Given the description of an element on the screen output the (x, y) to click on. 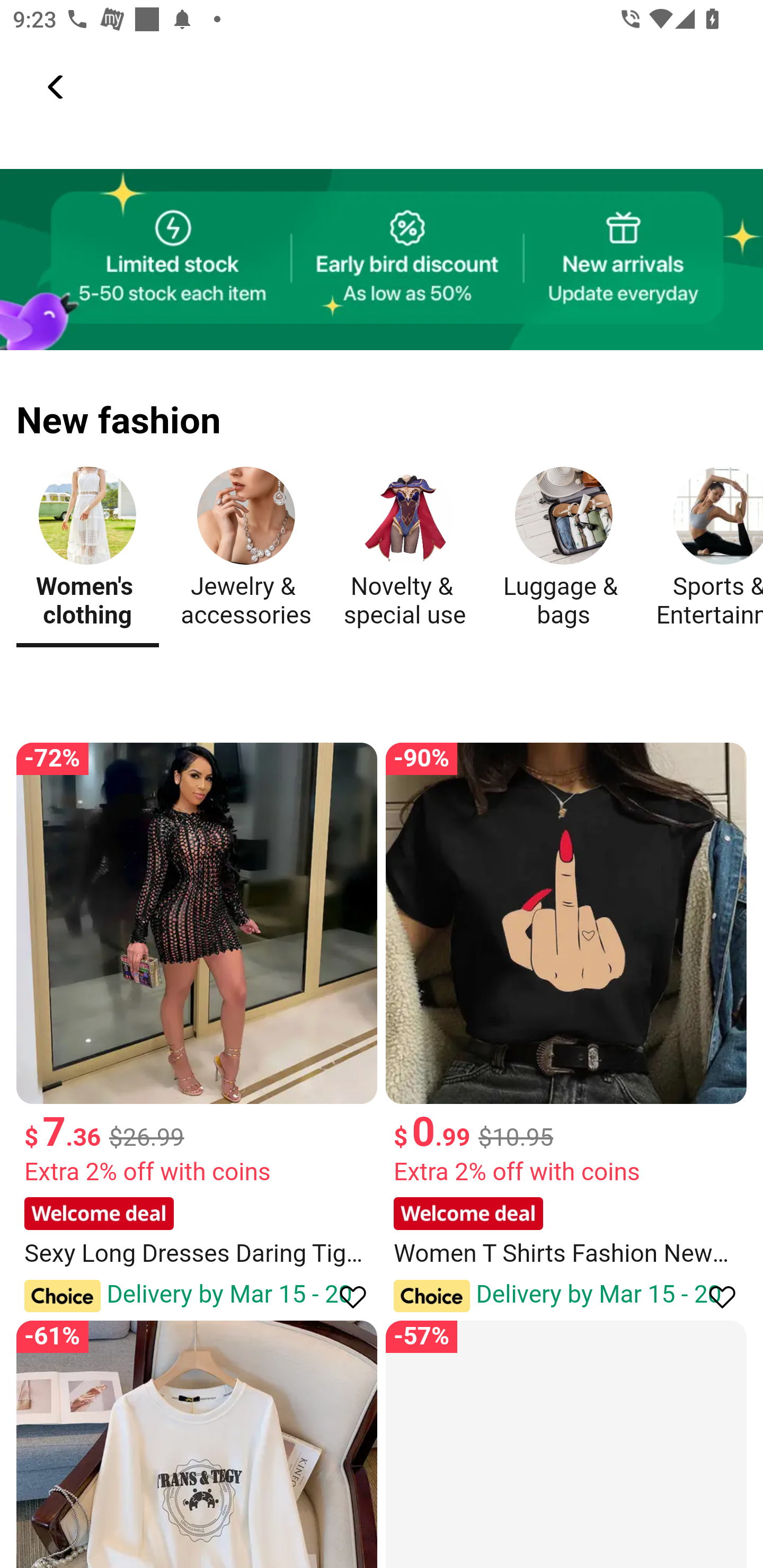
 (57, 86)
New fashion (381, 409)
192x192.png_ Women's clothing (87, 551)
192x192.png_ Jewelry & accessories (246, 551)
192x192.png_ Luggage & bags (563, 551)
192x192.png_ Sports & Entertainment (706, 551)
 (344, 1295)
 (713, 1295)
